Given the description of an element on the screen output the (x, y) to click on. 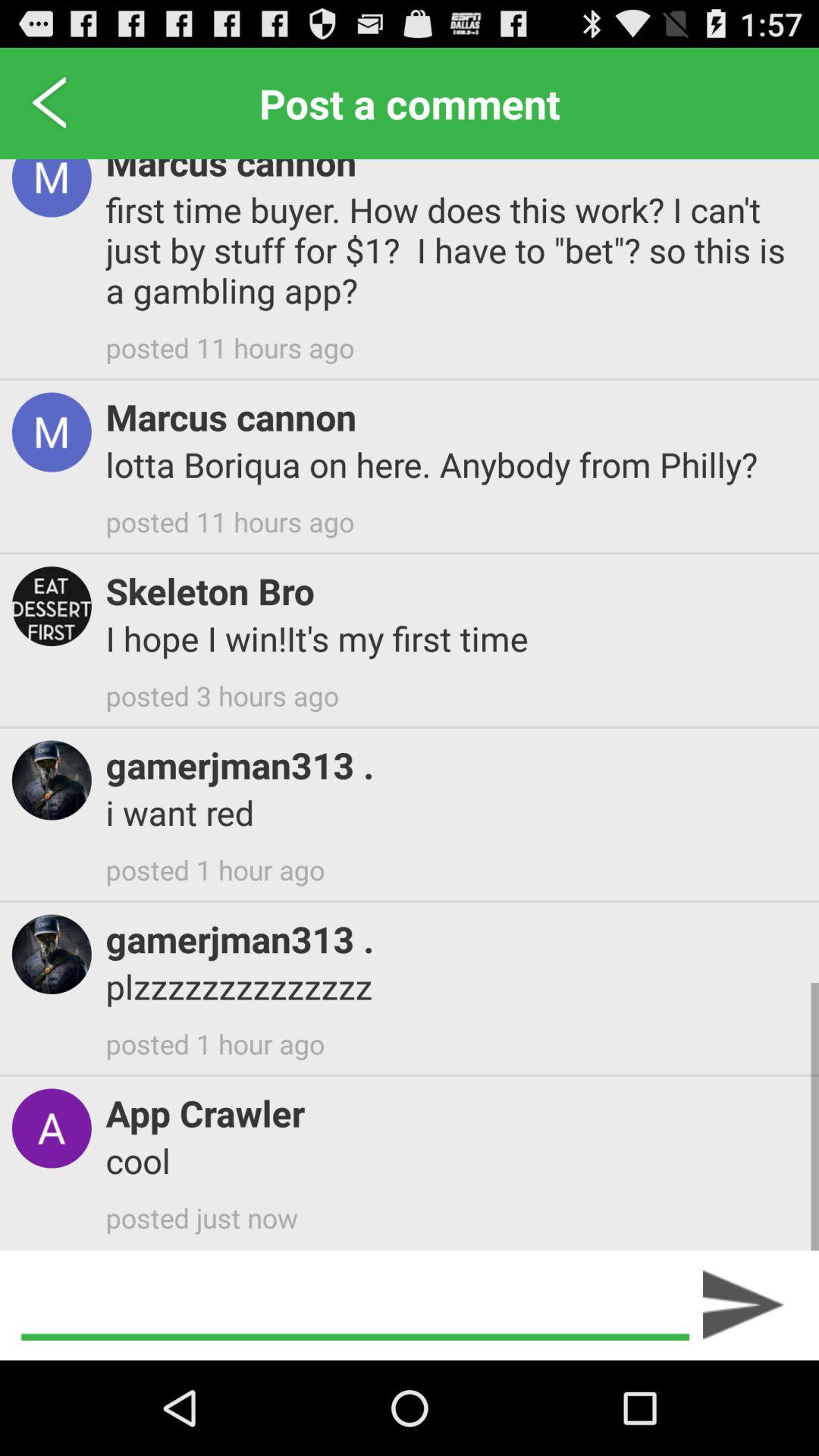
click icon below posted just now (744, 1305)
